Given the description of an element on the screen output the (x, y) to click on. 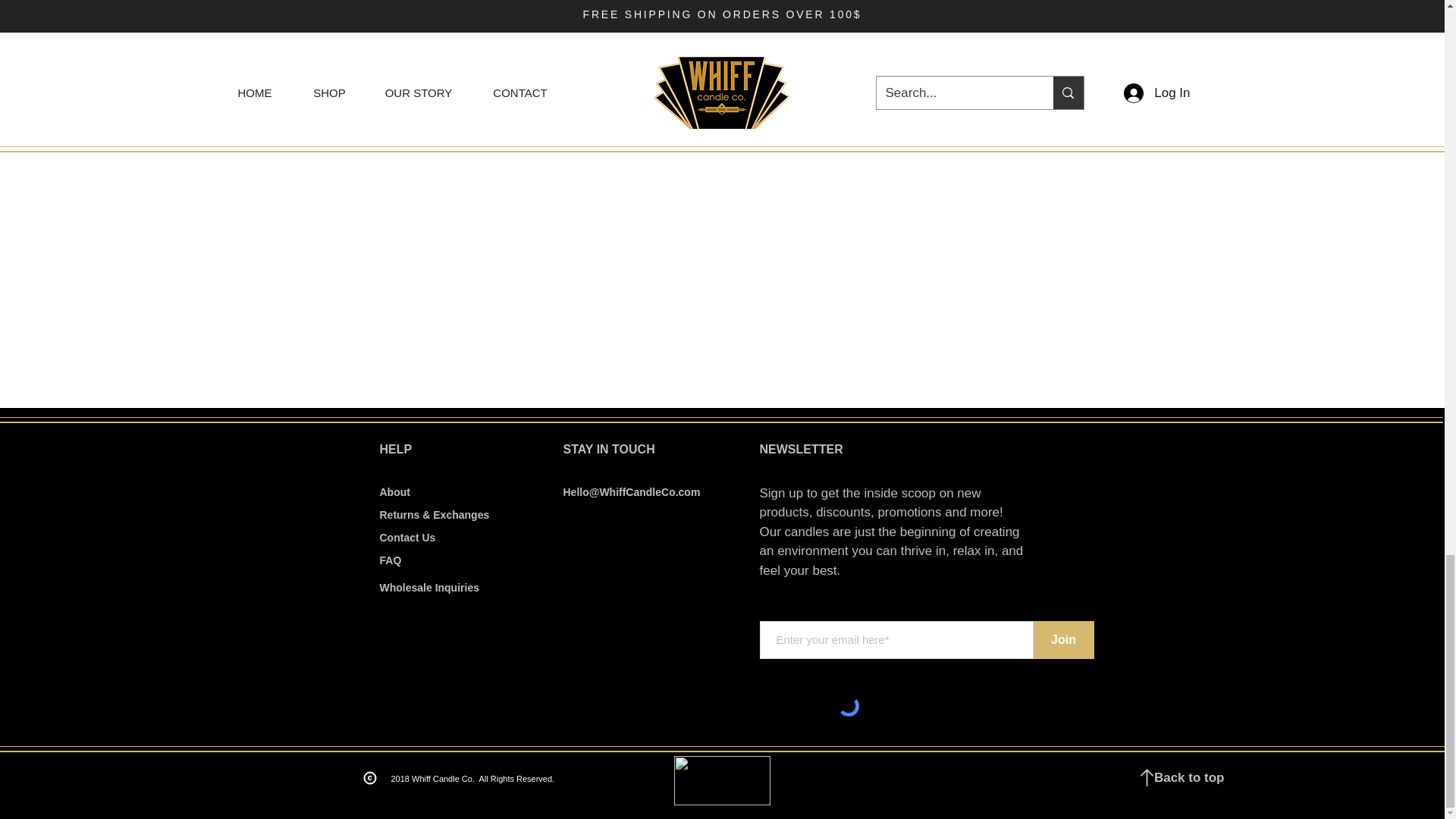
Join (1062, 639)
FAQ (389, 560)
Wholesale Inquiries (428, 587)
Contact Us (406, 537)
About (393, 491)
Back to top (1189, 777)
